Given the description of an element on the screen output the (x, y) to click on. 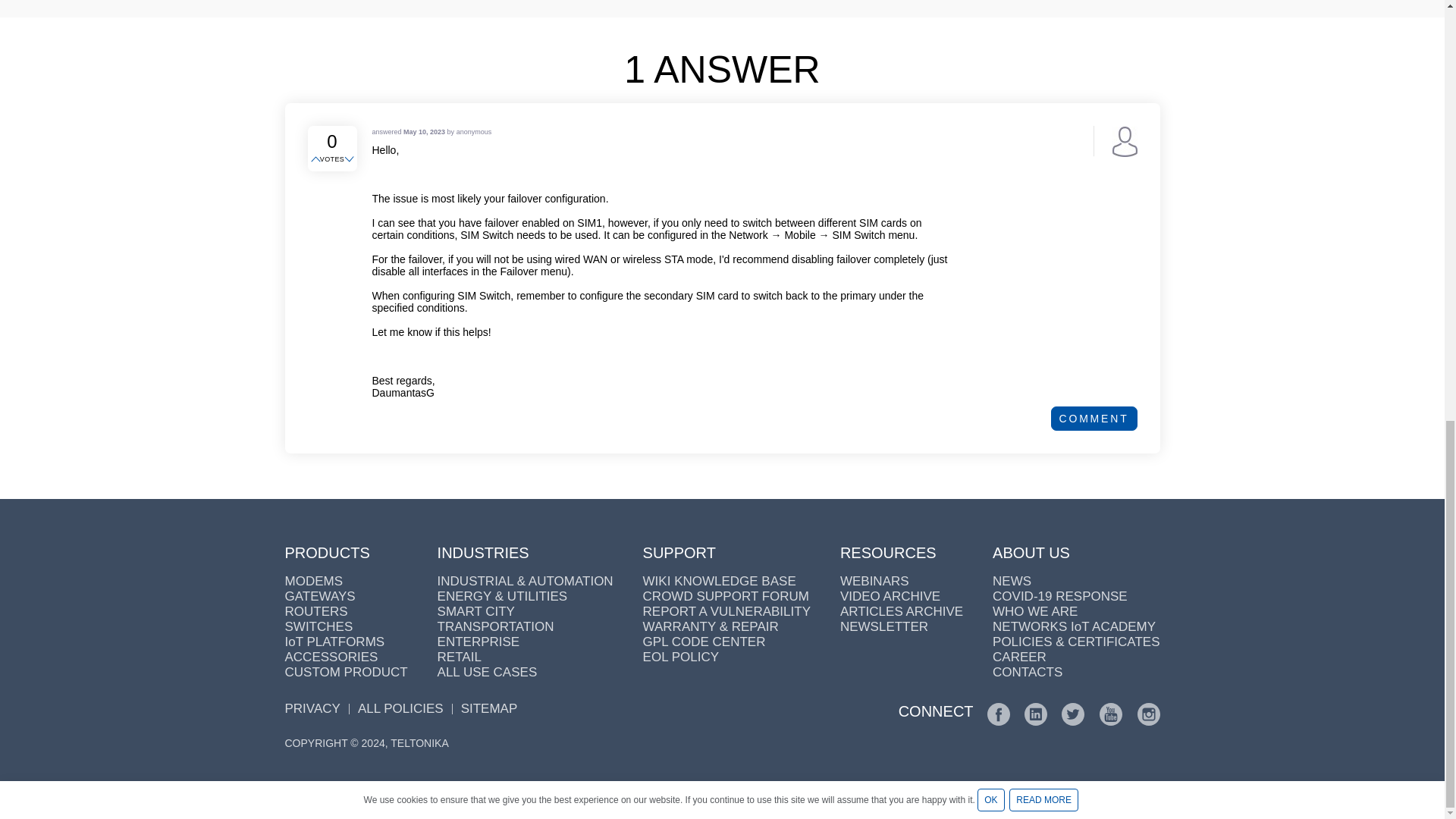
Click to vote down (349, 159)
Click to vote up (317, 159)
comment (1094, 418)
Add a comment on this answer (1094, 418)
